Given the description of an element on the screen output the (x, y) to click on. 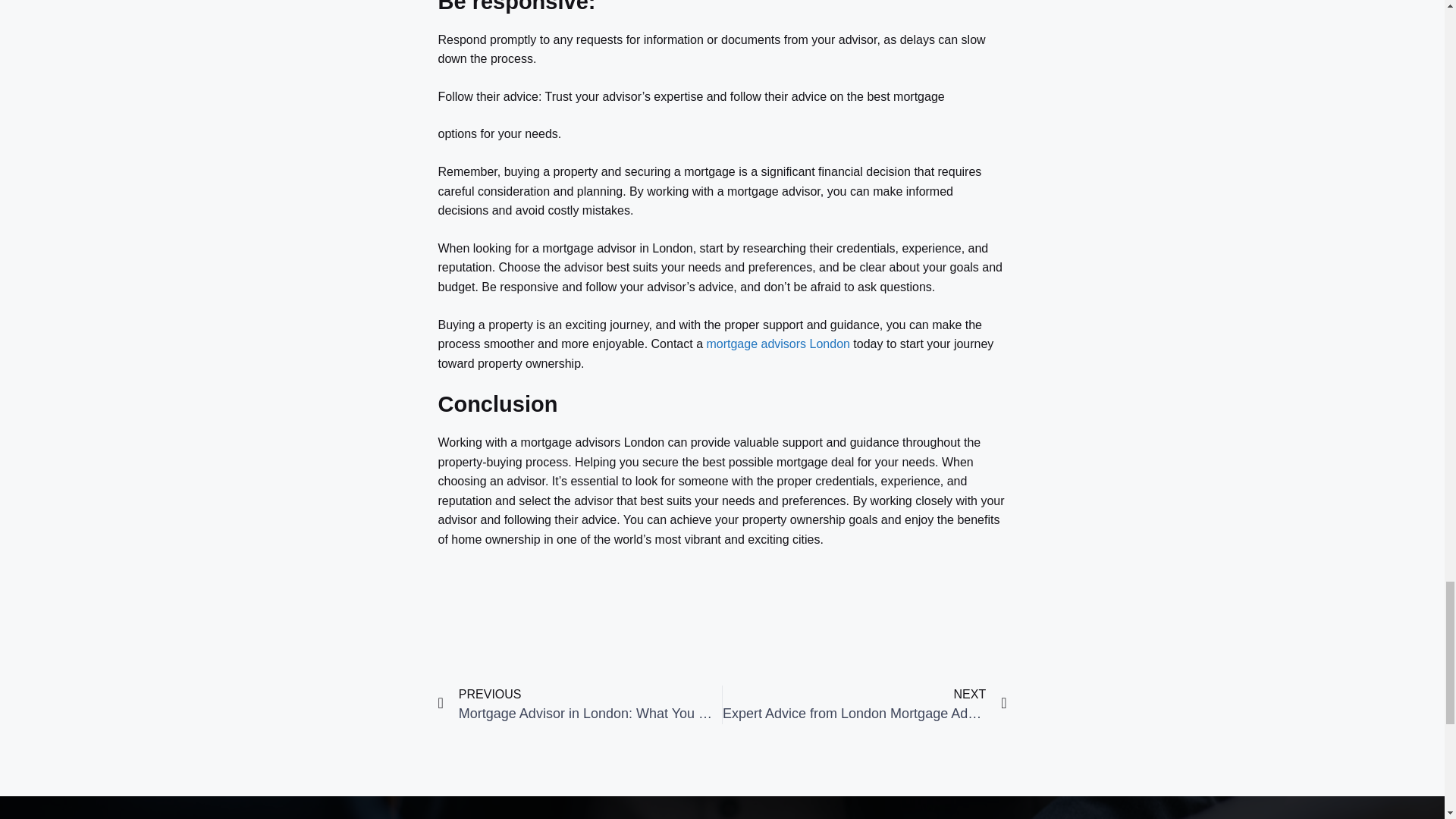
mortgage advisors London (864, 704)
